Given the description of an element on the screen output the (x, y) to click on. 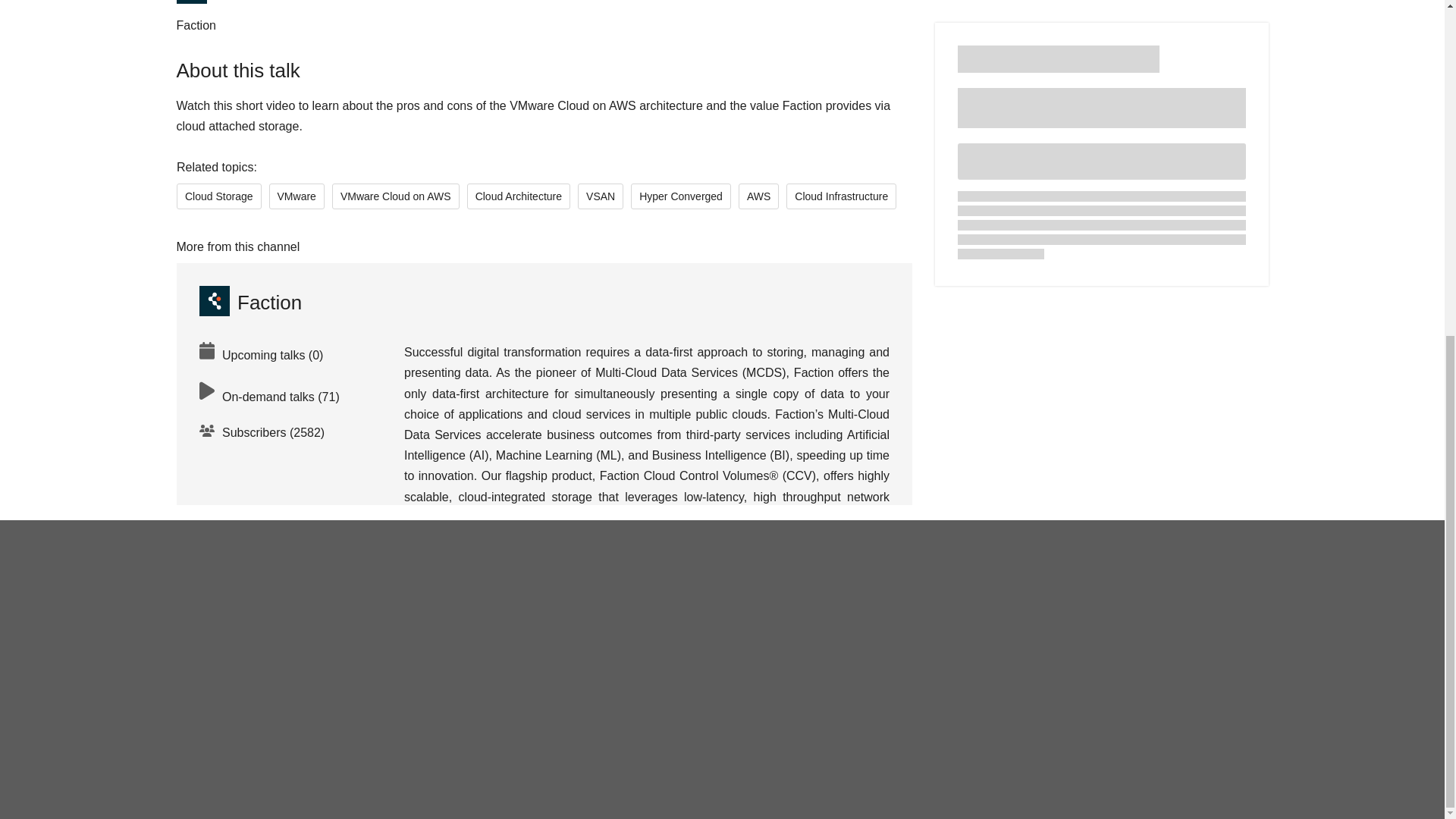
VSAN (600, 196)
Visit Faction's channel (249, 302)
Faction (249, 302)
VMware (295, 196)
VMware Cloud on AWS (394, 196)
Cloud Storage (218, 196)
AWS (757, 196)
Cloud Architecture (517, 196)
Hyper Converged (680, 196)
Cloud Infrastructure (841, 196)
